Given the description of an element on the screen output the (x, y) to click on. 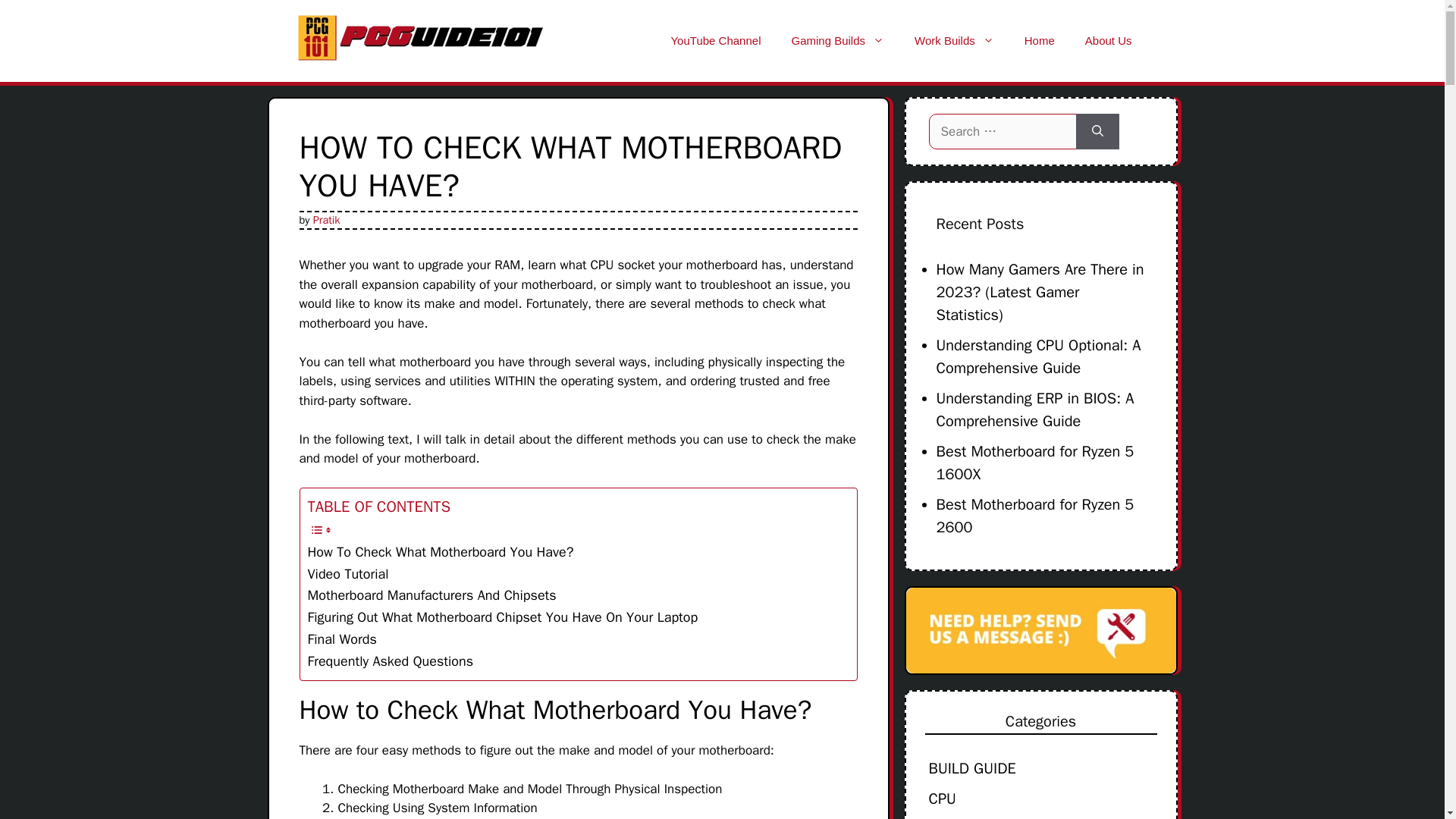
About Us (1108, 40)
Search for: (1005, 131)
Frequently Asked Questions (390, 661)
Video Tutorial (347, 574)
YouTube Channel (715, 40)
View all posts by Pratik (326, 219)
Motherboard Manufacturers and Chipsets (431, 595)
Pratik (326, 219)
Video Tutorial (347, 574)
Work Builds (954, 40)
Motherboard Manufacturers And Chipsets (431, 595)
Frequently Asked Questions (390, 661)
How to Check What Motherboard You Have? (440, 552)
Gaming Builds (837, 40)
